Given the description of an element on the screen output the (x, y) to click on. 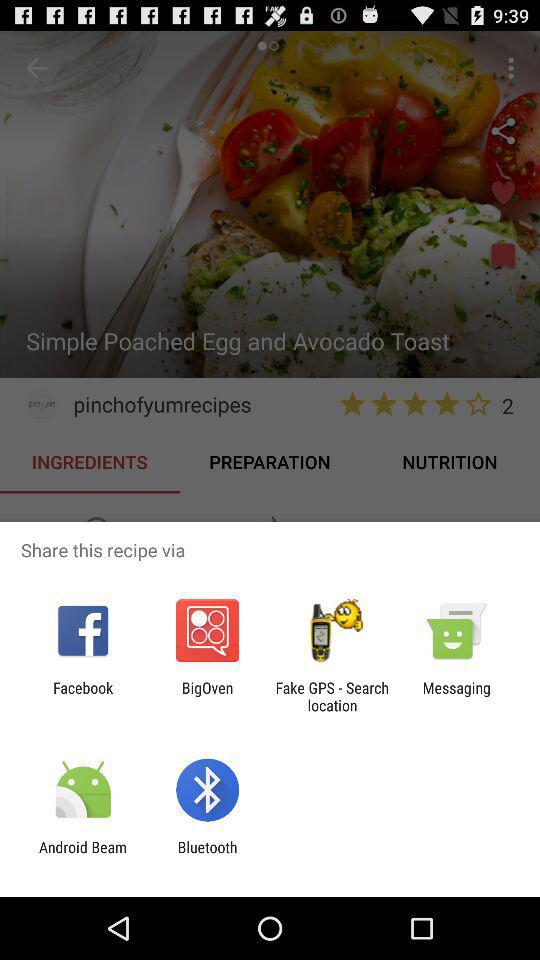
launch the app next to bigoven item (332, 696)
